Given the description of an element on the screen output the (x, y) to click on. 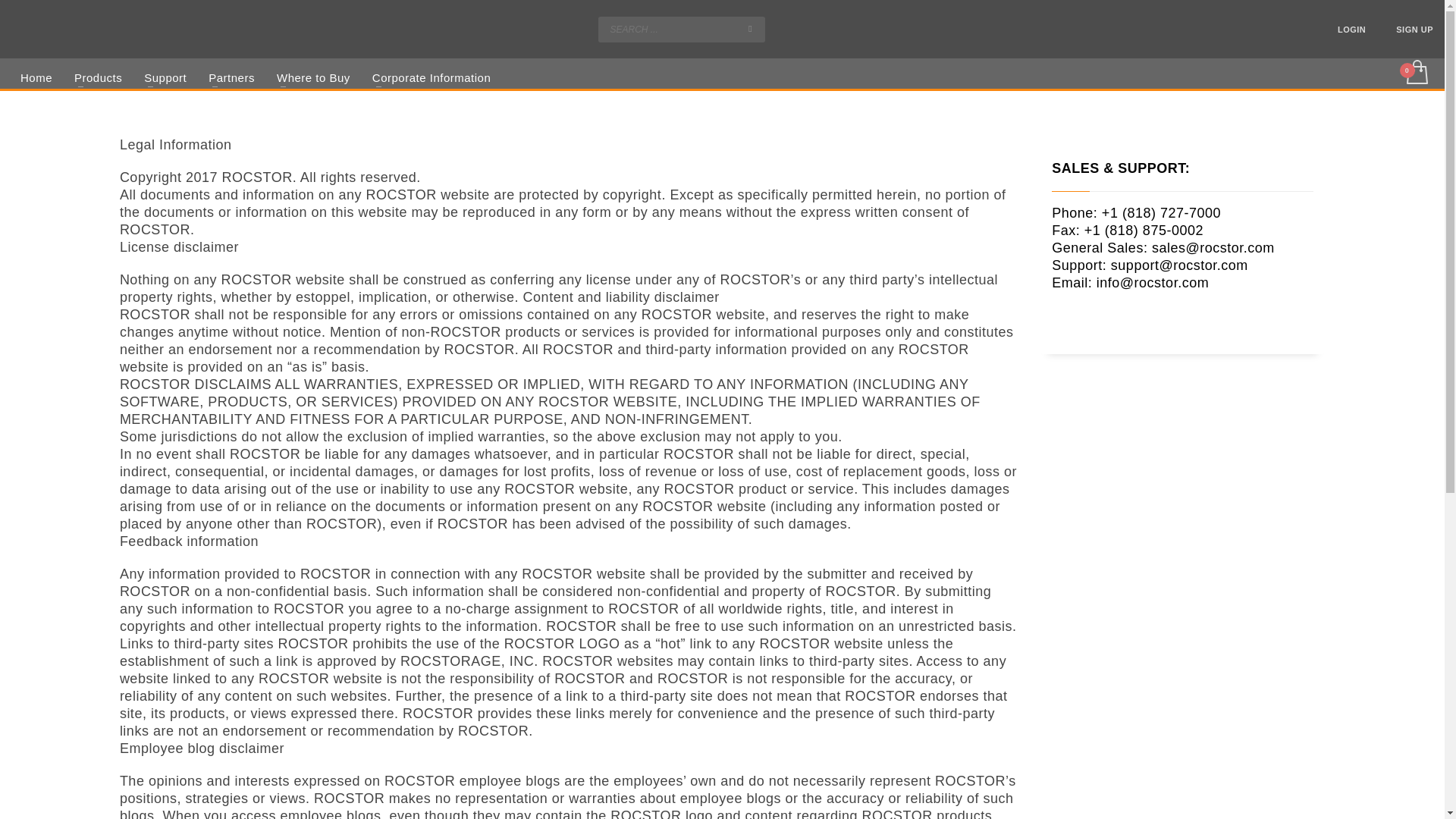
Products (98, 77)
View your shopping cart (1415, 76)
Home (36, 77)
LOGIN (1351, 28)
SIGN UP (1414, 28)
go (749, 27)
